Given the description of an element on the screen output the (x, y) to click on. 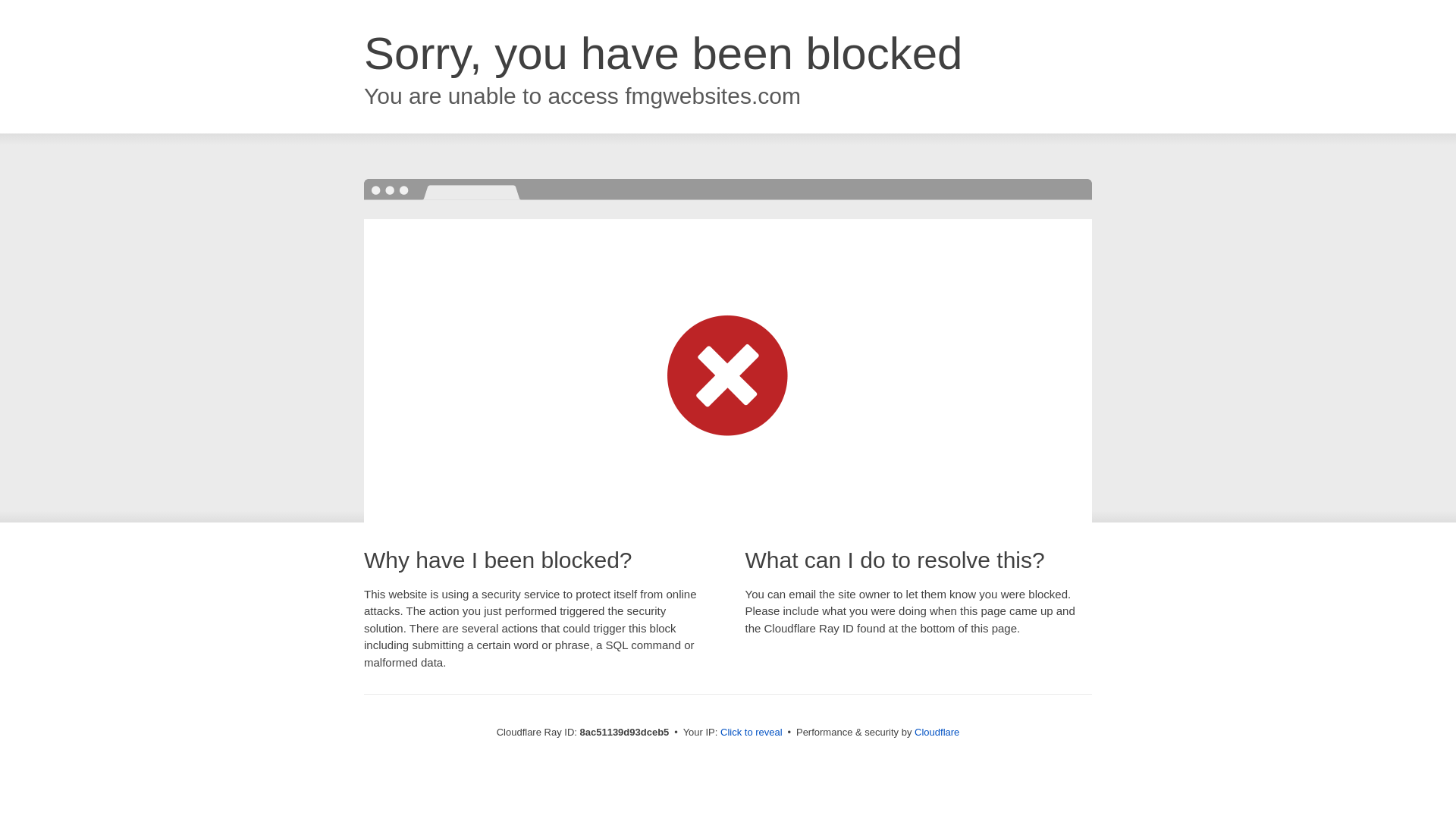
Click to reveal (751, 732)
Cloudflare (936, 731)
